Given the description of an element on the screen output the (x, y) to click on. 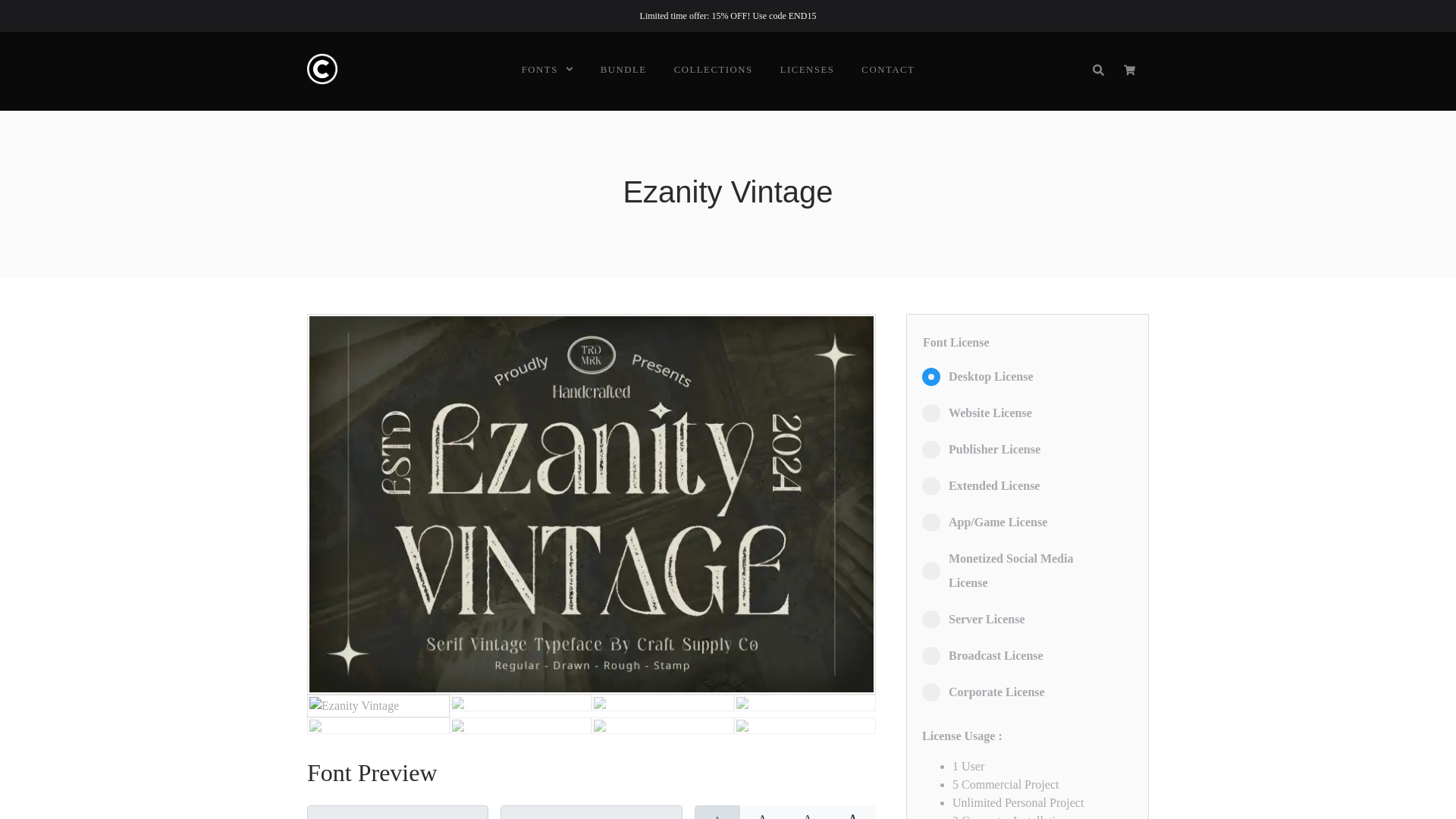
48 (767, 814)
COLLECTIONS (713, 69)
64 (812, 814)
96 (858, 814)
32 (721, 814)
BUNDLE (623, 69)
CONTACT (888, 69)
LICENSES (807, 69)
FONTS (539, 69)
